Given the description of an element on the screen output the (x, y) to click on. 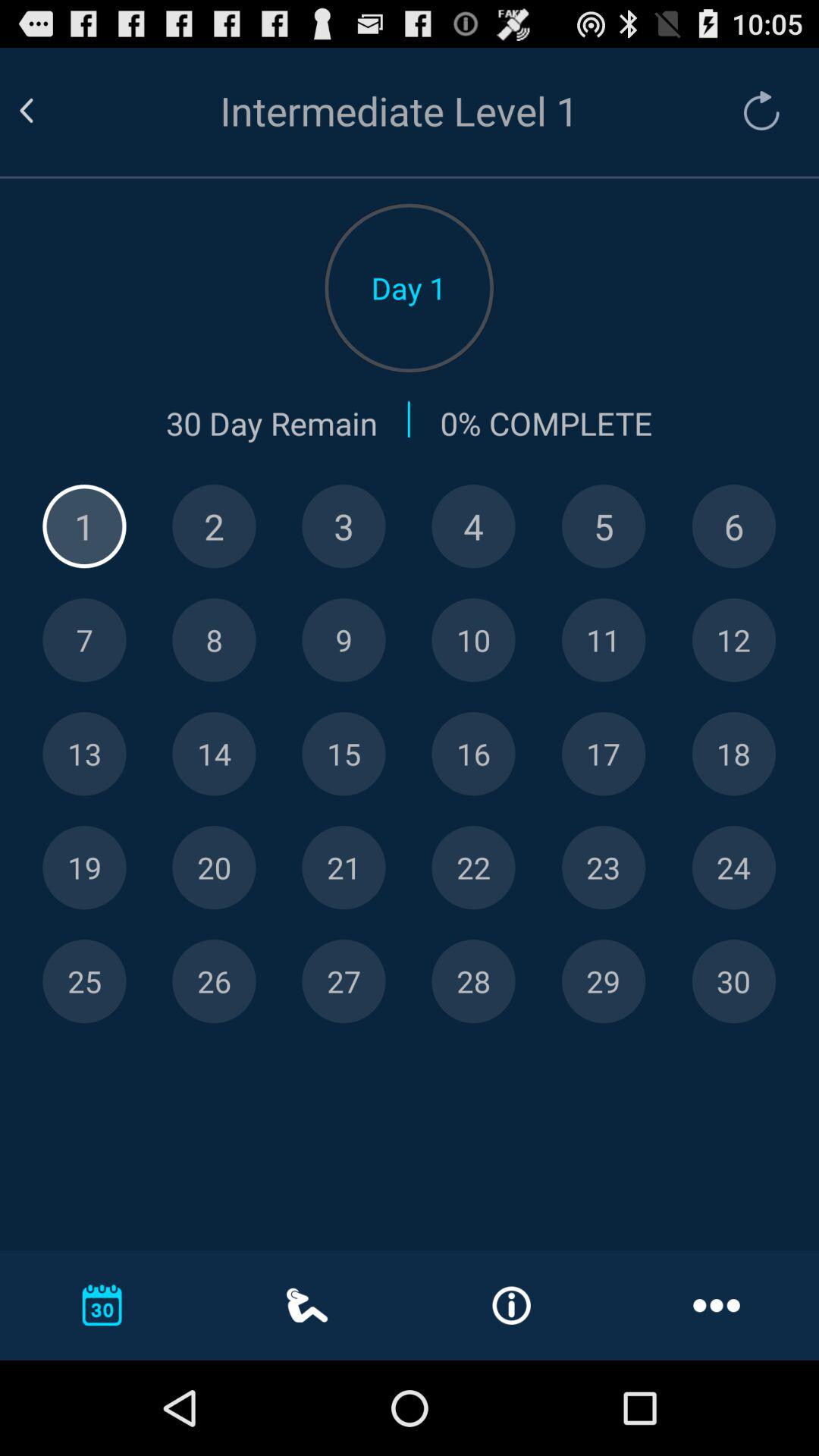
1 button (84, 526)
